Given the description of an element on the screen output the (x, y) to click on. 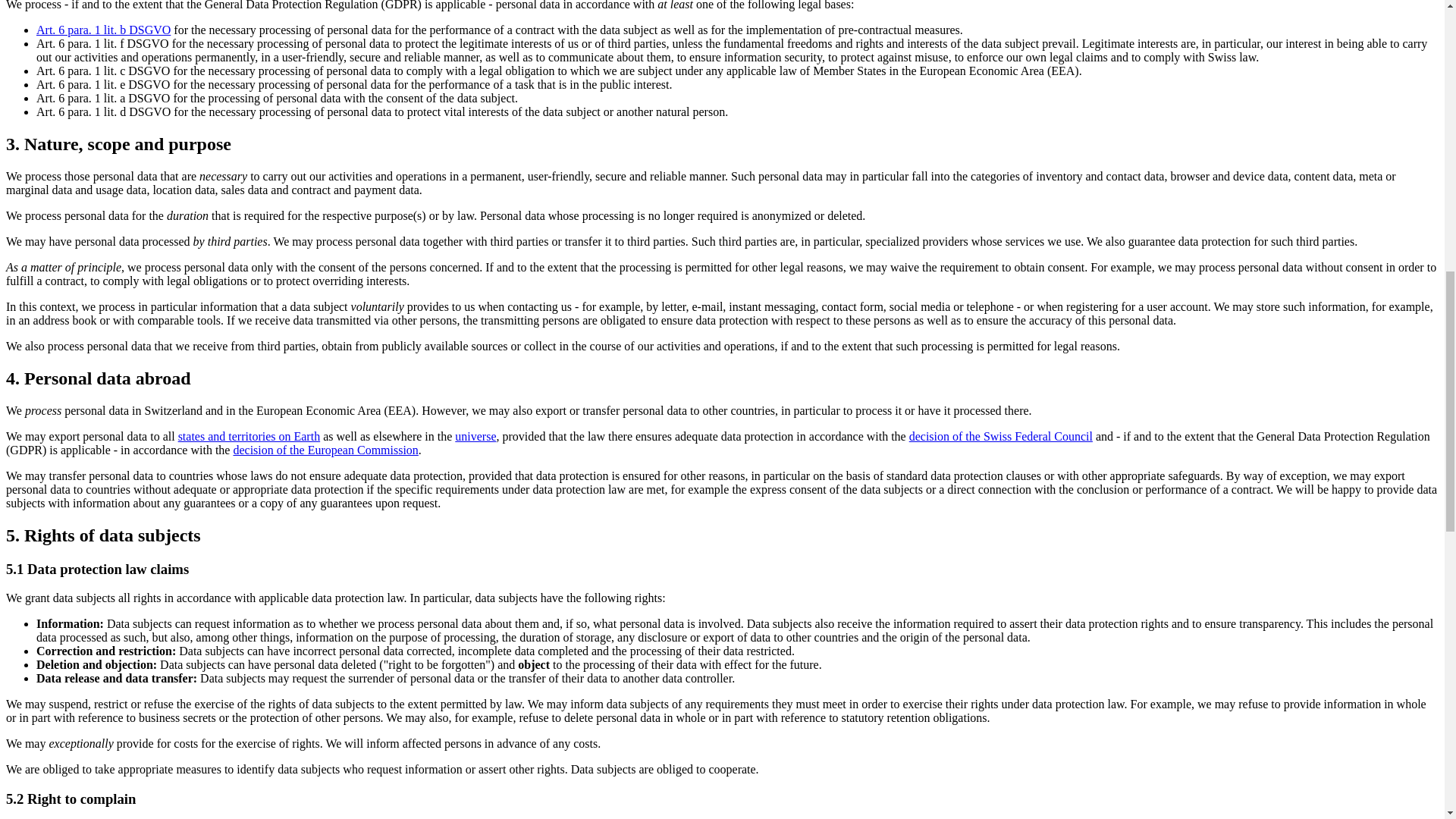
decision of the European Commission (324, 449)
Art. 6 para. 1 lit. b DSGVO (103, 29)
decision of the Swiss Federal Council (1000, 436)
states and territories on Earth (248, 436)
universe (475, 436)
